Given the description of an element on the screen output the (x, y) to click on. 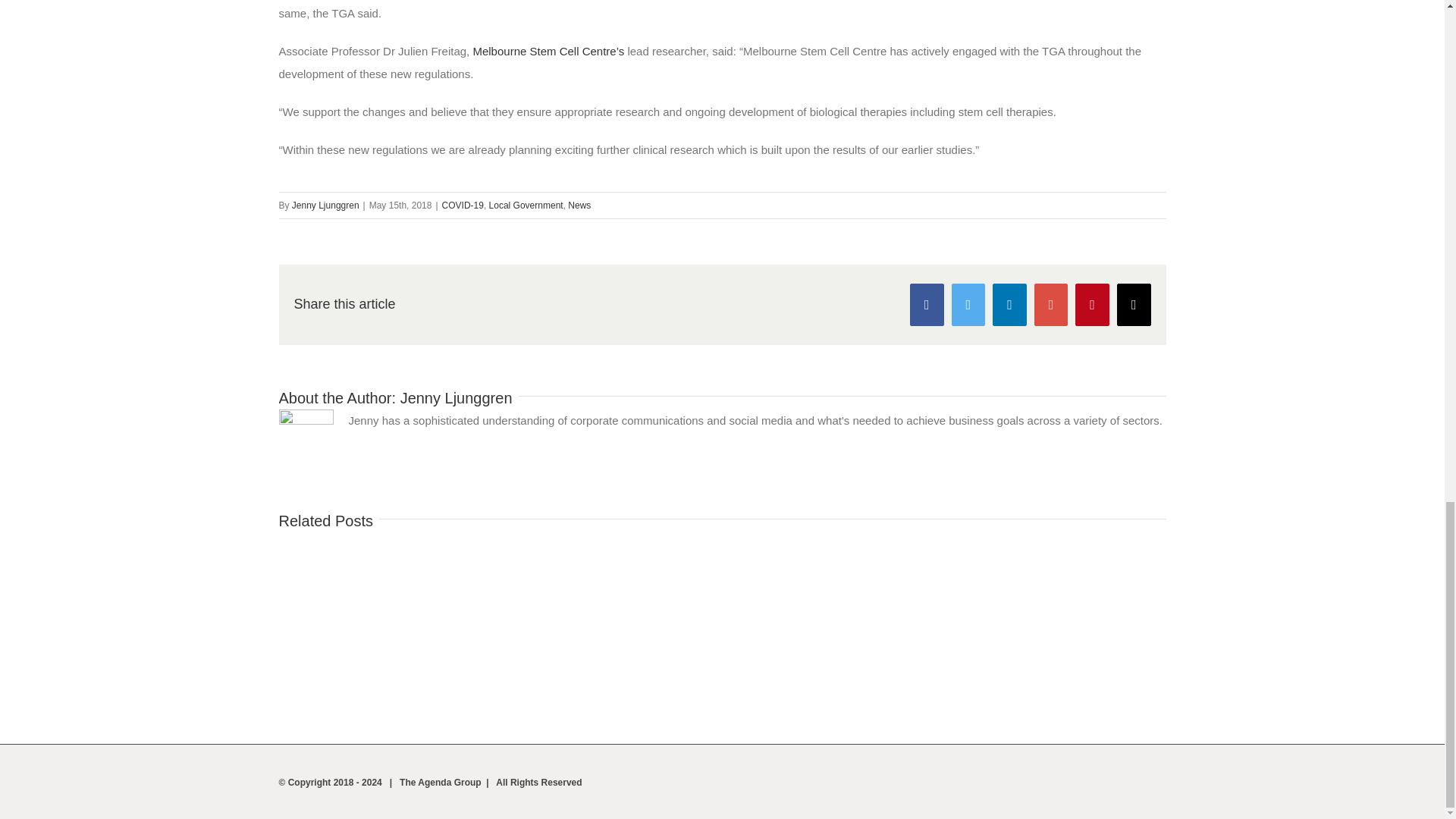
Jenny Ljunggren (325, 204)
Posts by Jenny Ljunggren (325, 204)
Jenny Ljunggren (456, 397)
Posts by Jenny Ljunggren (456, 397)
Local Government (526, 204)
COVID-19 (462, 204)
News (579, 204)
